Given the description of an element on the screen output the (x, y) to click on. 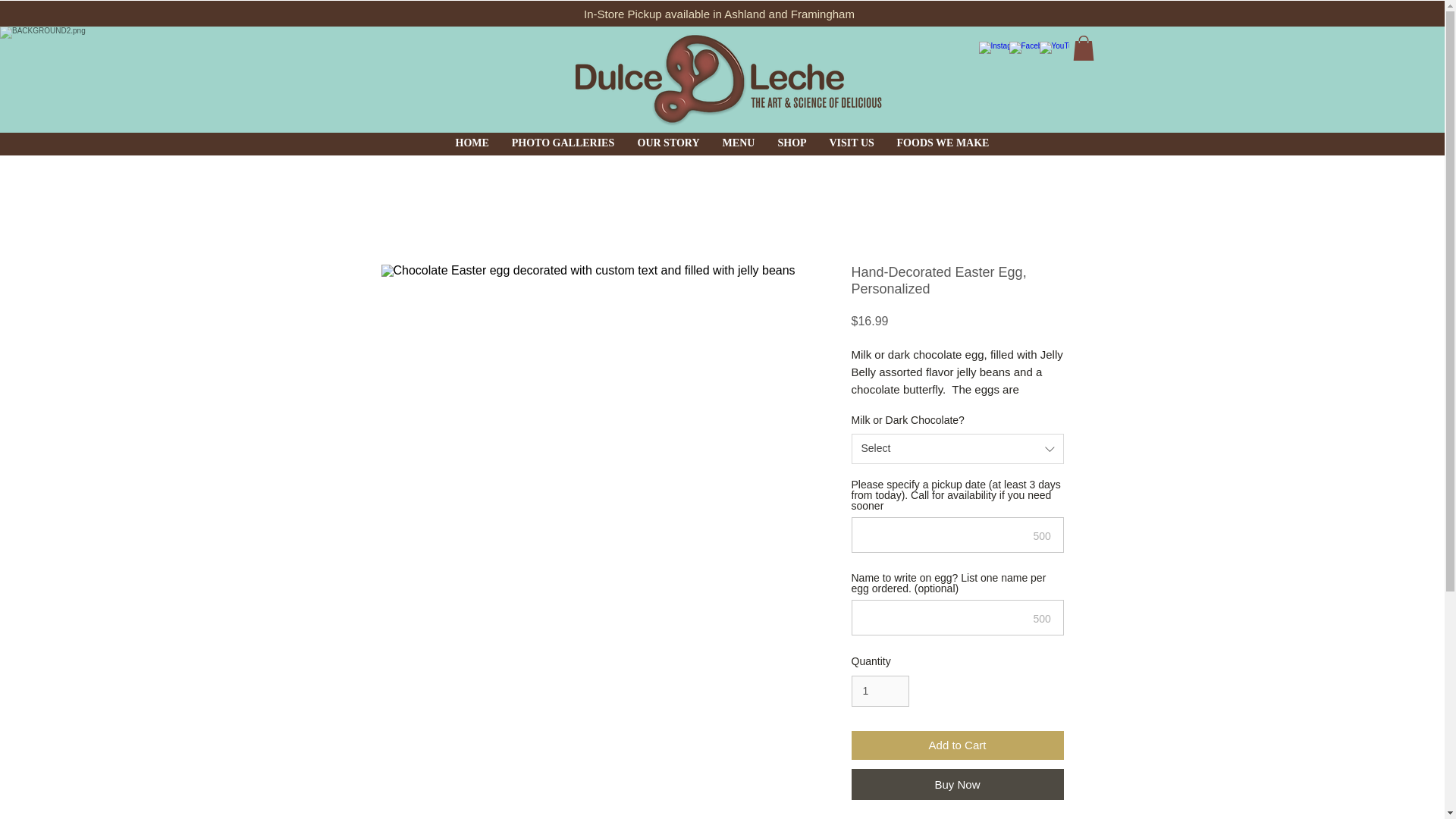
Buy Now (956, 784)
OUR STORY (668, 142)
Add to Cart (956, 745)
1 (879, 690)
Select (956, 449)
VISIT US (850, 142)
HOME (472, 142)
FOODS WE MAKE (943, 142)
PHOTO GALLERIES (563, 142)
